Given the description of an element on the screen output the (x, y) to click on. 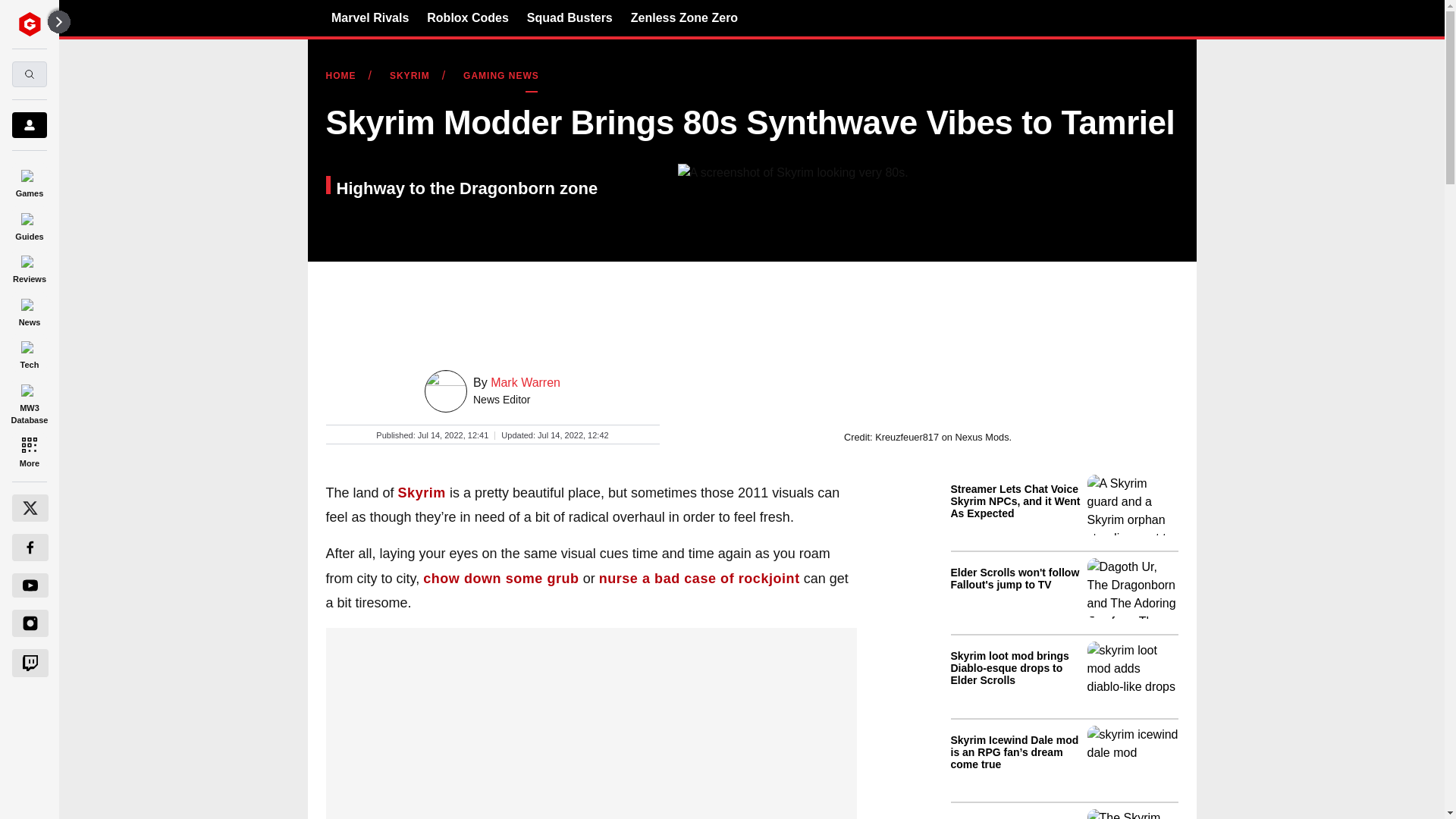
Tech (28, 352)
Games (28, 180)
Zenless Zone Zero (684, 18)
Marvel Rivals (370, 18)
Squad Busters (569, 18)
Guides (28, 224)
Reviews (28, 266)
News (28, 309)
More (28, 450)
Roblox Codes (467, 18)
